Given the description of an element on the screen output the (x, y) to click on. 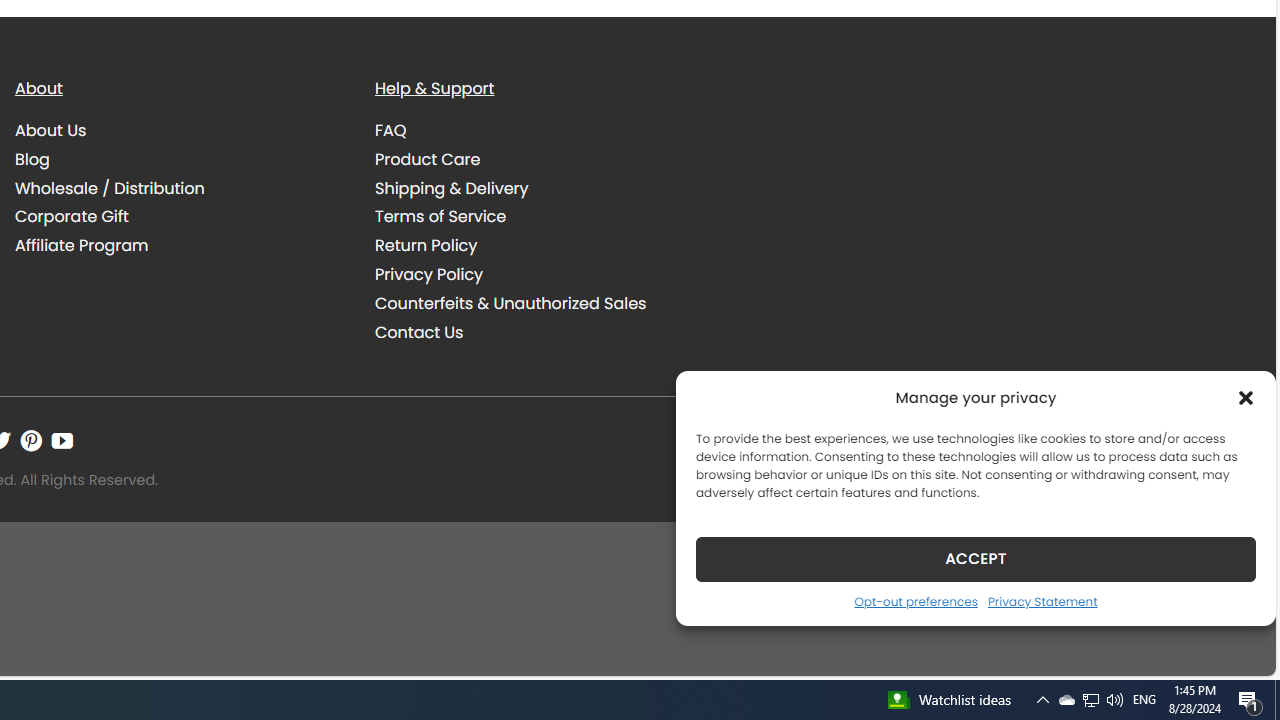
Follow on YouTube (61, 440)
Counterfeits & Unauthorized Sales (540, 303)
Wholesale / Distribution (109, 187)
